Given the description of an element on the screen output the (x, y) to click on. 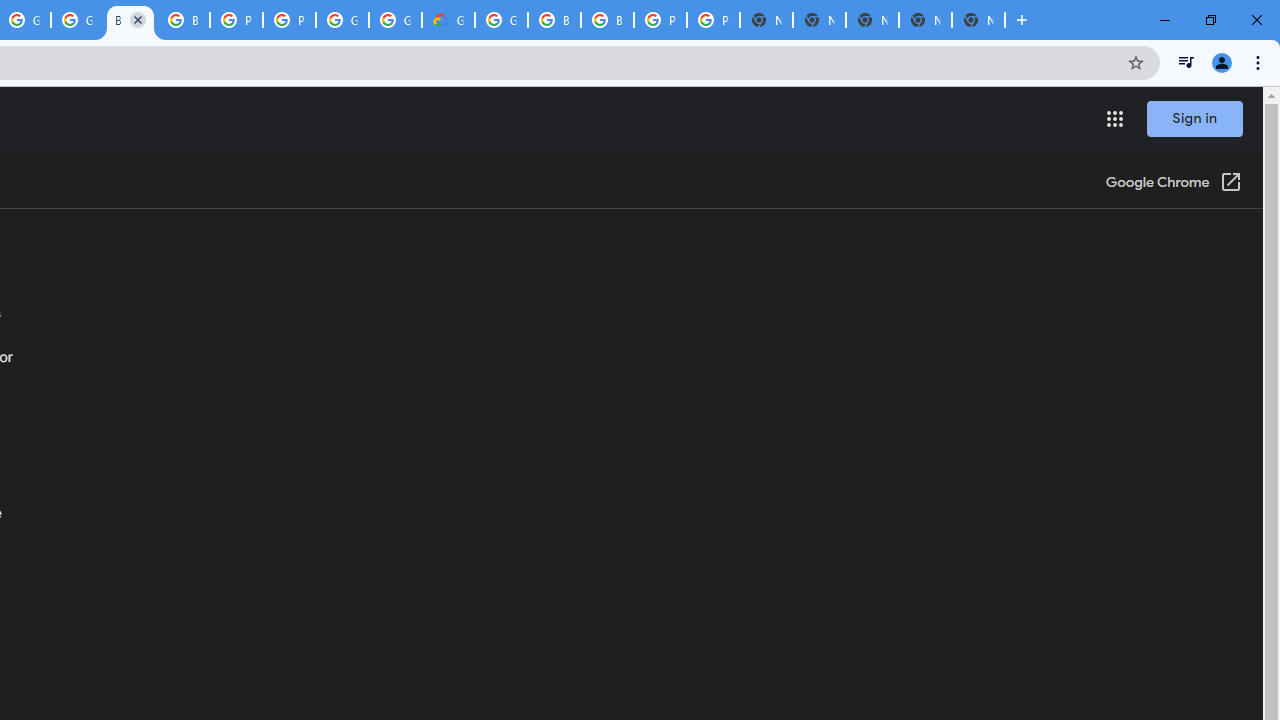
Google Chrome (Open in a new window) (1173, 183)
Browse Chrome as a guest - Computer - Google Chrome Help (607, 20)
Google Cloud Estimate Summary (448, 20)
Browse Chrome as a guest - Computer - Google Chrome Help (130, 20)
